Given the description of an element on the screen output the (x, y) to click on. 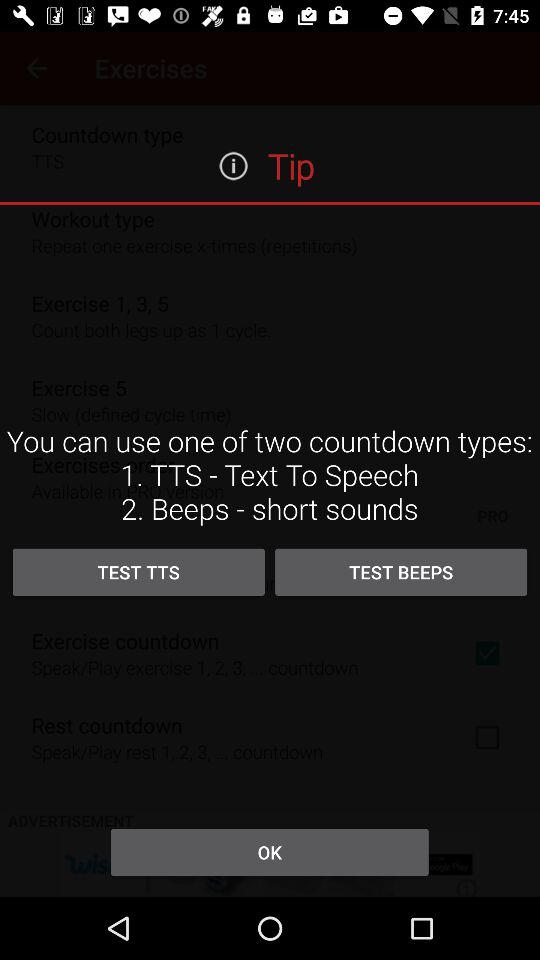
press icon above the ok (138, 571)
